Given the description of an element on the screen output the (x, y) to click on. 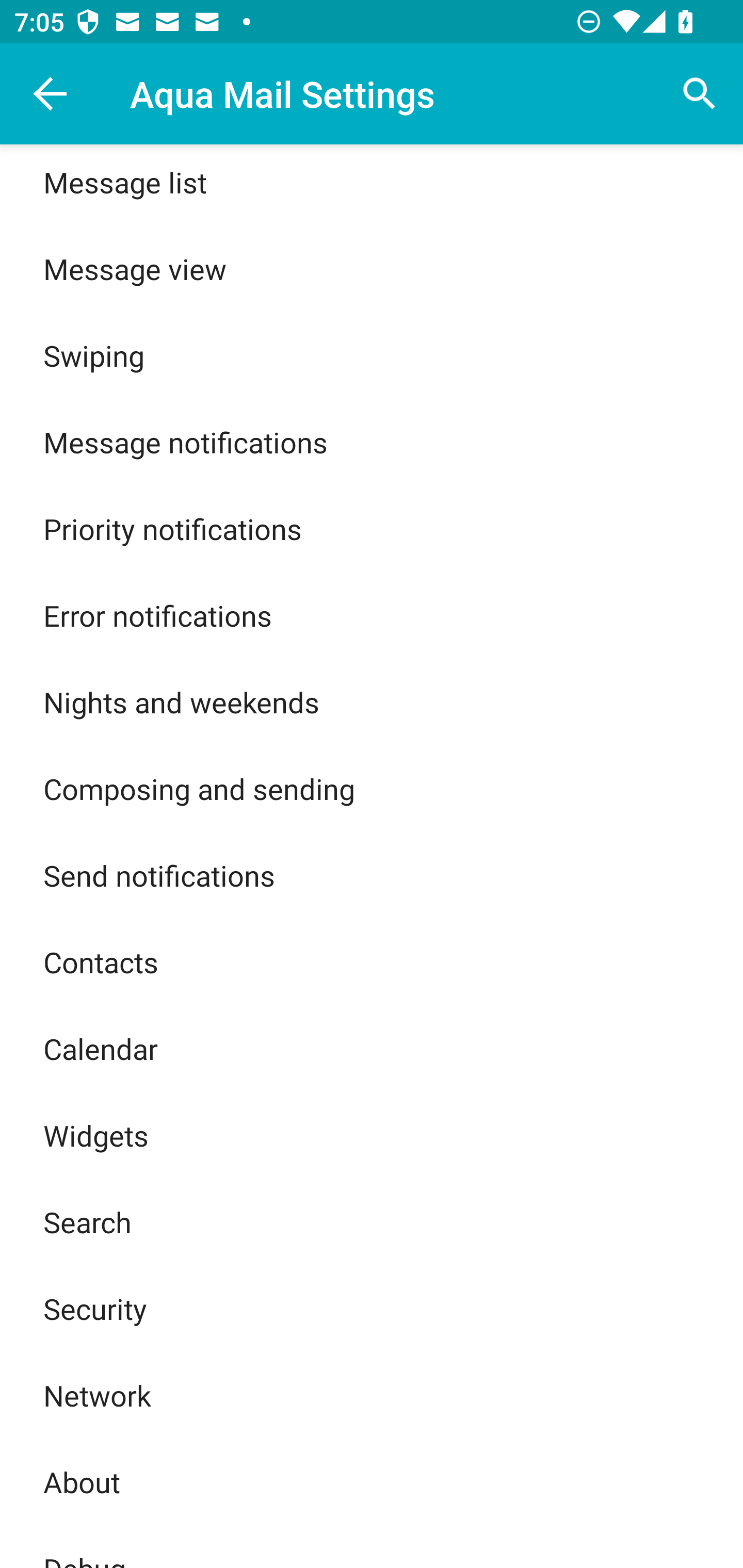
Navigate up (50, 93)
Search (699, 93)
Message list (371, 184)
Message view (371, 268)
Swiping (371, 355)
Message notifications (371, 442)
Priority notifications (371, 529)
Error notifications (371, 615)
Nights and weekends (371, 701)
Composing and sending (371, 788)
Send notifications (371, 875)
Contacts (371, 961)
Calendar (371, 1048)
Widgets (371, 1135)
Search (371, 1222)
Security (371, 1308)
Network (371, 1394)
About (371, 1481)
